Given the description of an element on the screen output the (x, y) to click on. 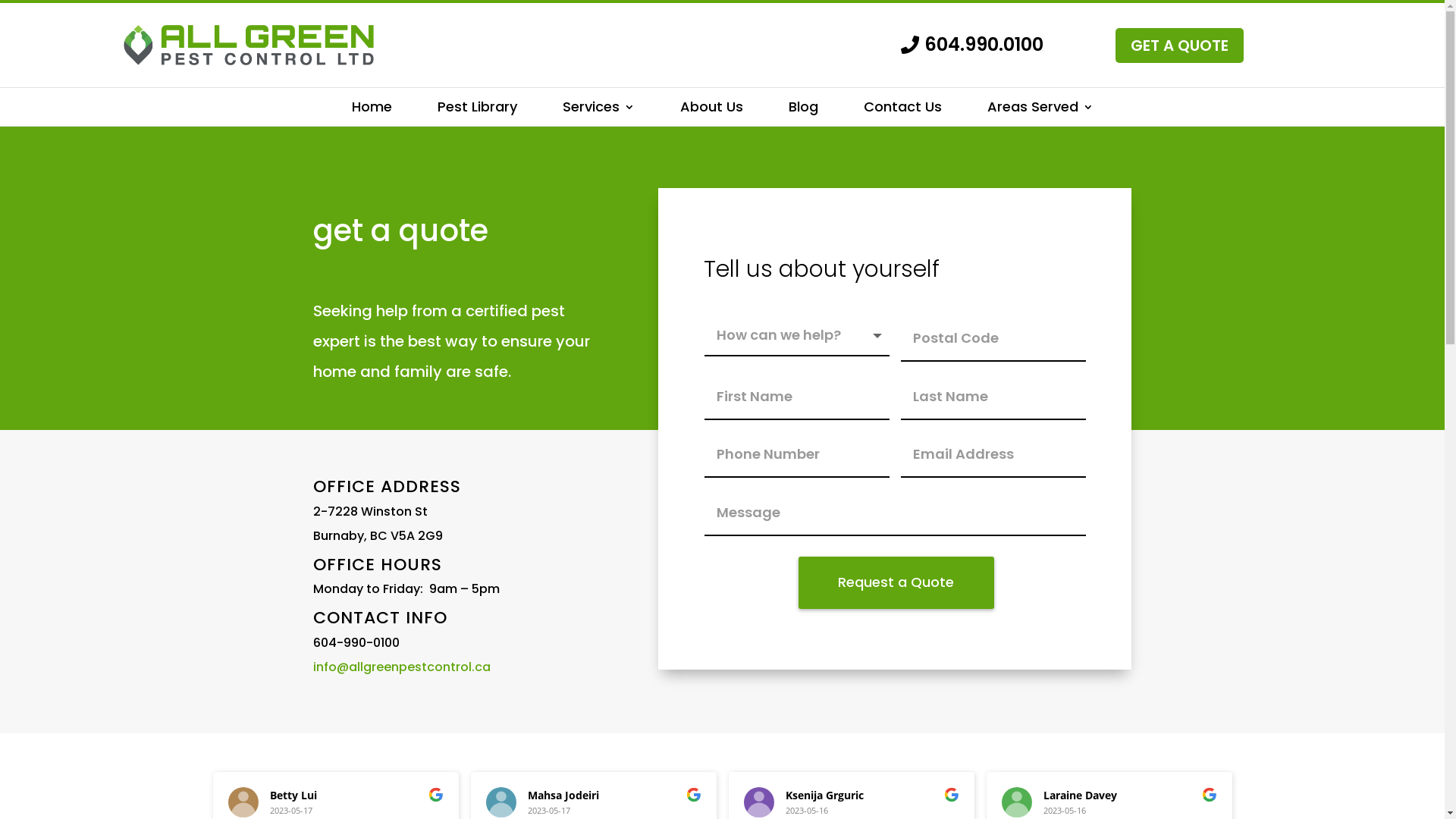
Contact Us Element type: text (901, 109)
604.990.0100 Element type: text (972, 44)
Home Element type: text (371, 109)
info@allgreenpestcontrol.ca Element type: text (400, 666)
About Us Element type: text (710, 109)
Services Element type: text (598, 109)
Blog Element type: text (803, 109)
GET A QUOTE Element type: text (1179, 45)
logo-01 Element type: hover (247, 45)
Areas Served Element type: text (1040, 109)
Request a Quote Element type: text (896, 582)
Pest Library Element type: text (476, 109)
